Given the description of an element on the screen output the (x, y) to click on. 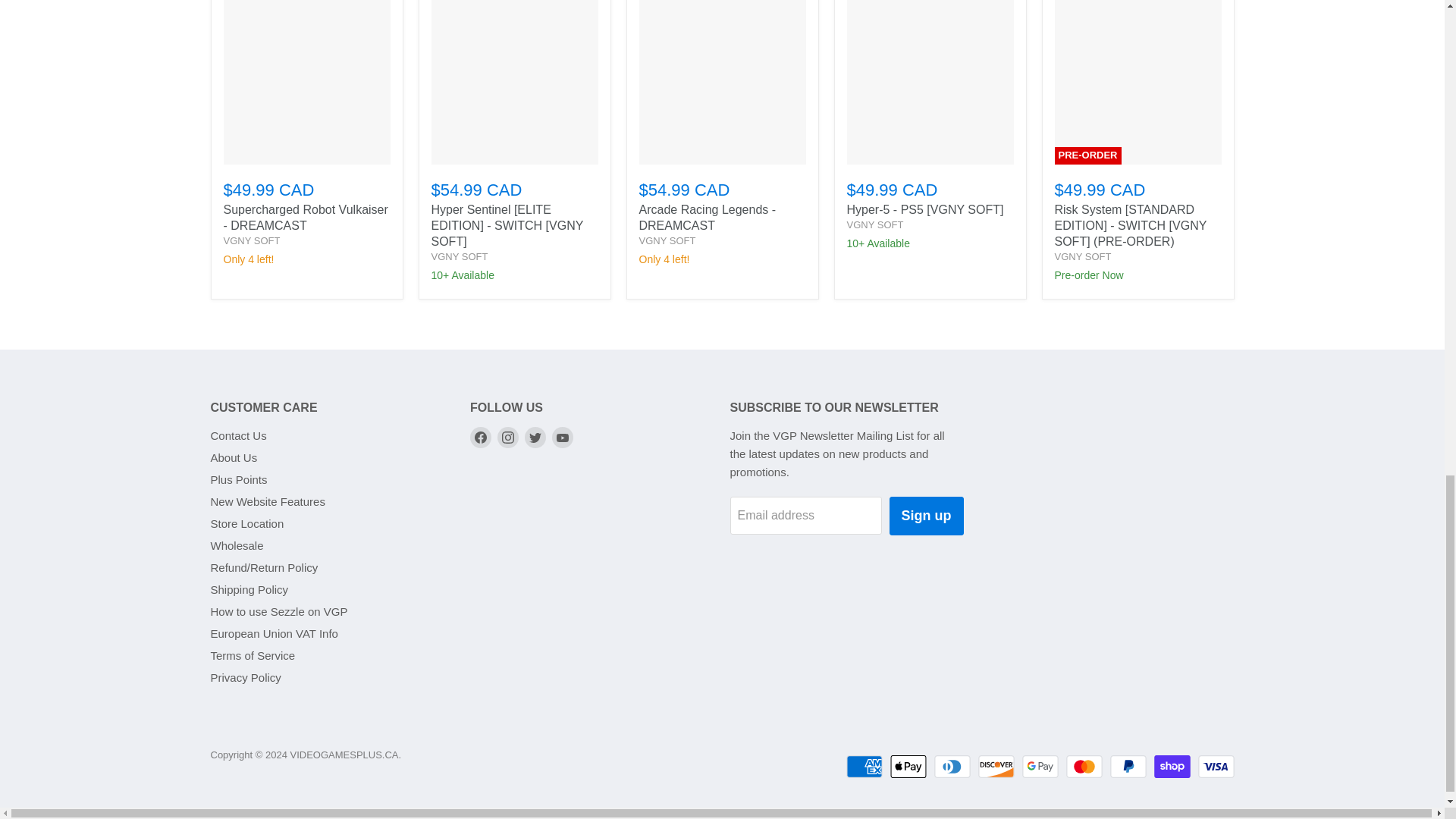
VGNY SOFT (873, 224)
VGNY SOFT (1082, 256)
YouTube (562, 436)
VGNY SOFT (667, 240)
VGNY SOFT (250, 240)
Twitter (535, 436)
VGNY SOFT (458, 256)
Facebook (481, 436)
Instagram (507, 436)
